Given the description of an element on the screen output the (x, y) to click on. 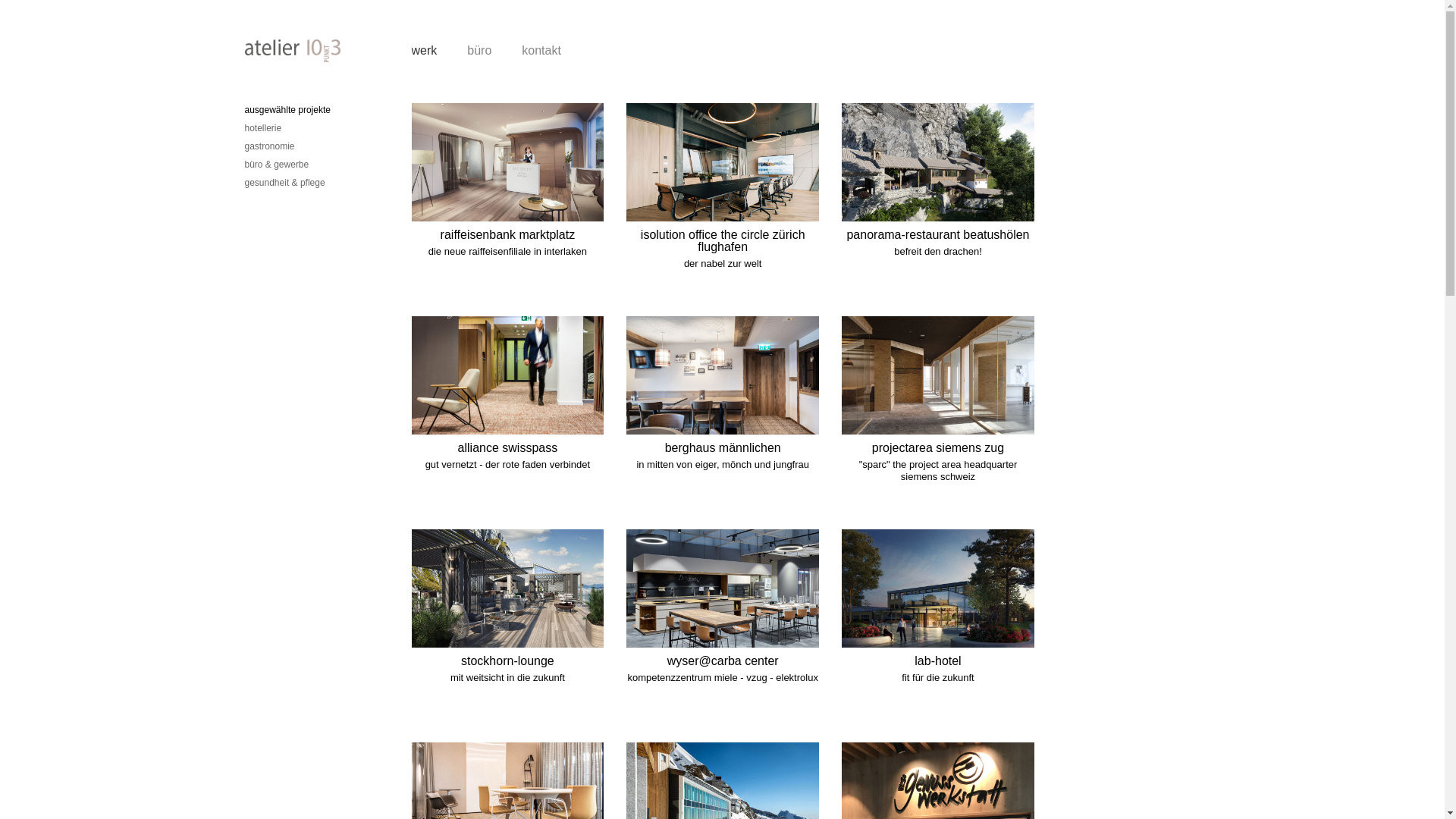
werk Element type: text (423, 49)
gesundheit & pflege Element type: text (284, 182)
stockhorn-lounge
mit weitsicht in die zukunft Element type: text (518, 635)
gastronomie Element type: text (269, 146)
kontakt Element type: text (541, 49)
hotellerie Element type: text (262, 127)
alliance swisspass
gut vernetzt - der rote faden verbindet Element type: text (518, 422)
